Given the description of an element on the screen output the (x, y) to click on. 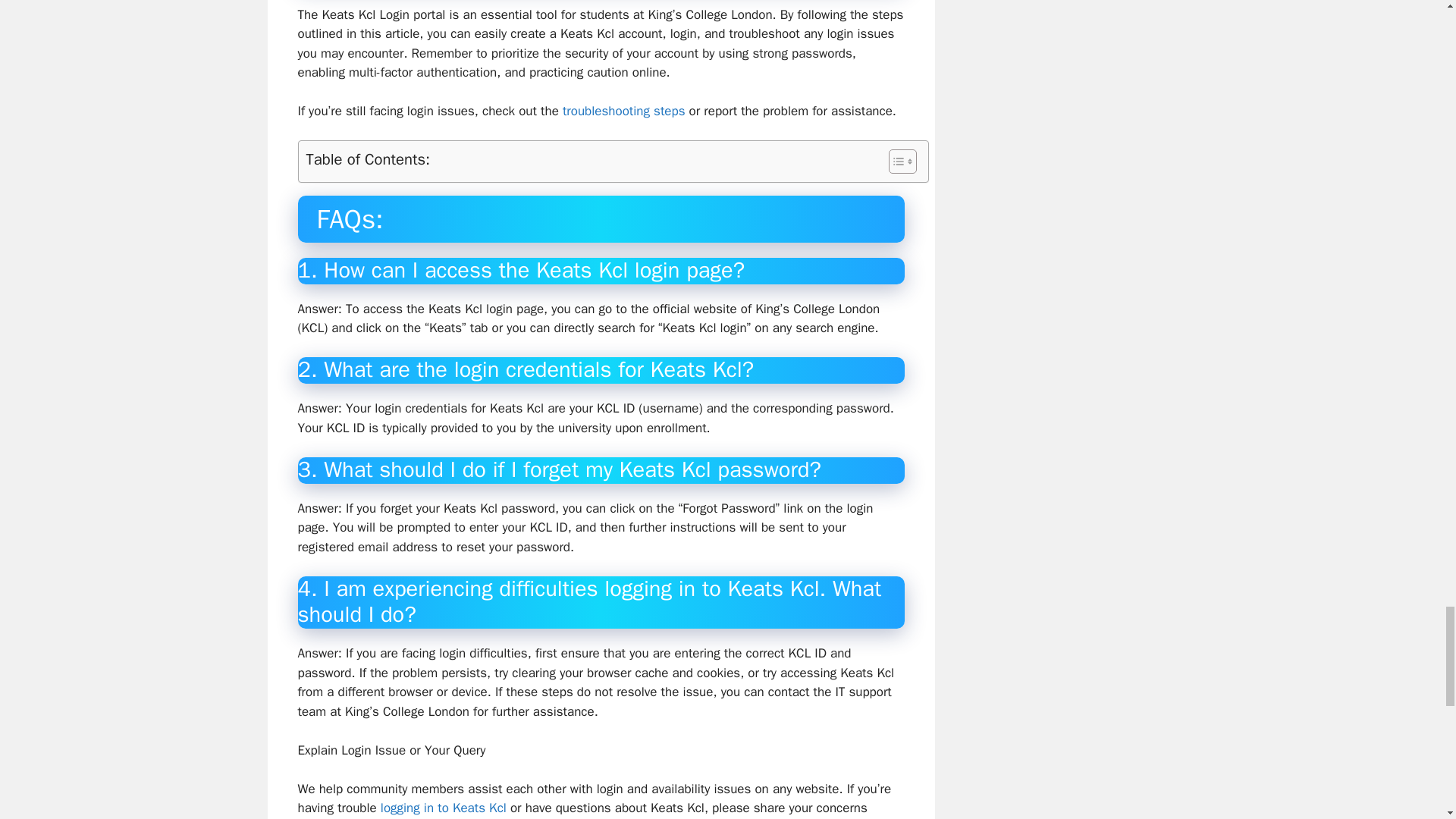
troubleshooting steps (623, 110)
logging in to Keats Kcl (443, 807)
